Given the description of an element on the screen output the (x, y) to click on. 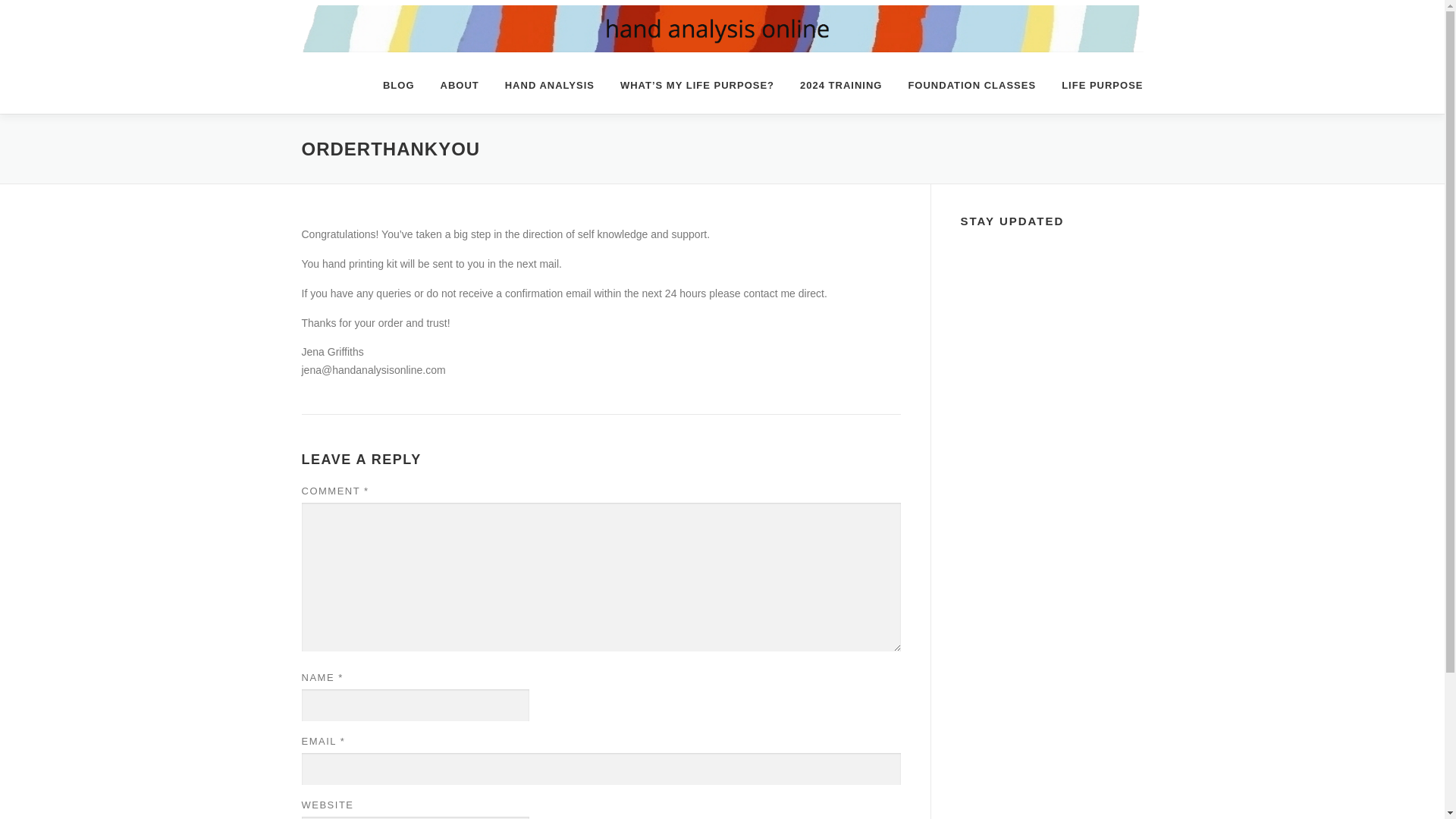
ABOUT (460, 84)
2024 TRAINING (841, 84)
FOUNDATION CLASSES (971, 84)
LIFE PURPOSE (1095, 84)
HAND ANALYSIS (549, 84)
BLOG (398, 84)
